Given the description of an element on the screen output the (x, y) to click on. 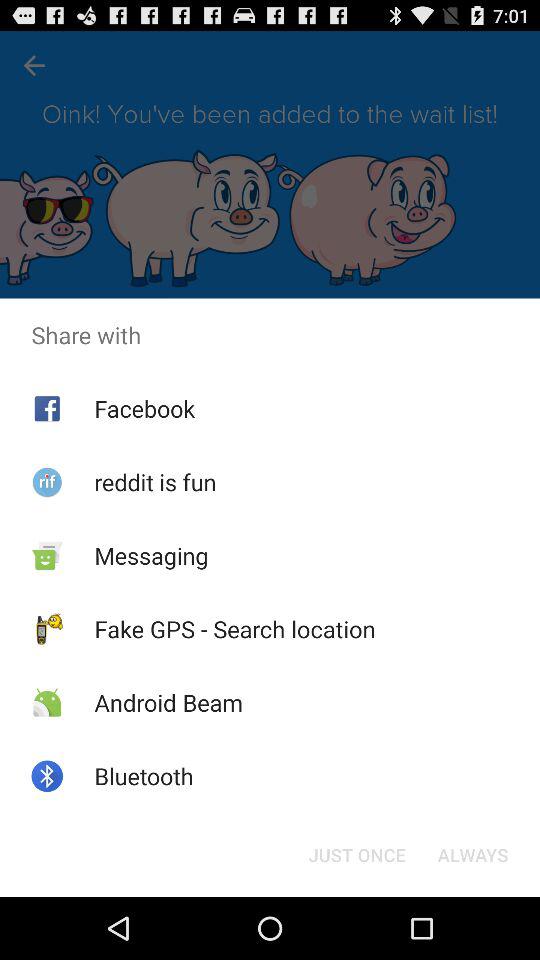
select app above fake gps search item (151, 555)
